Given the description of an element on the screen output the (x, y) to click on. 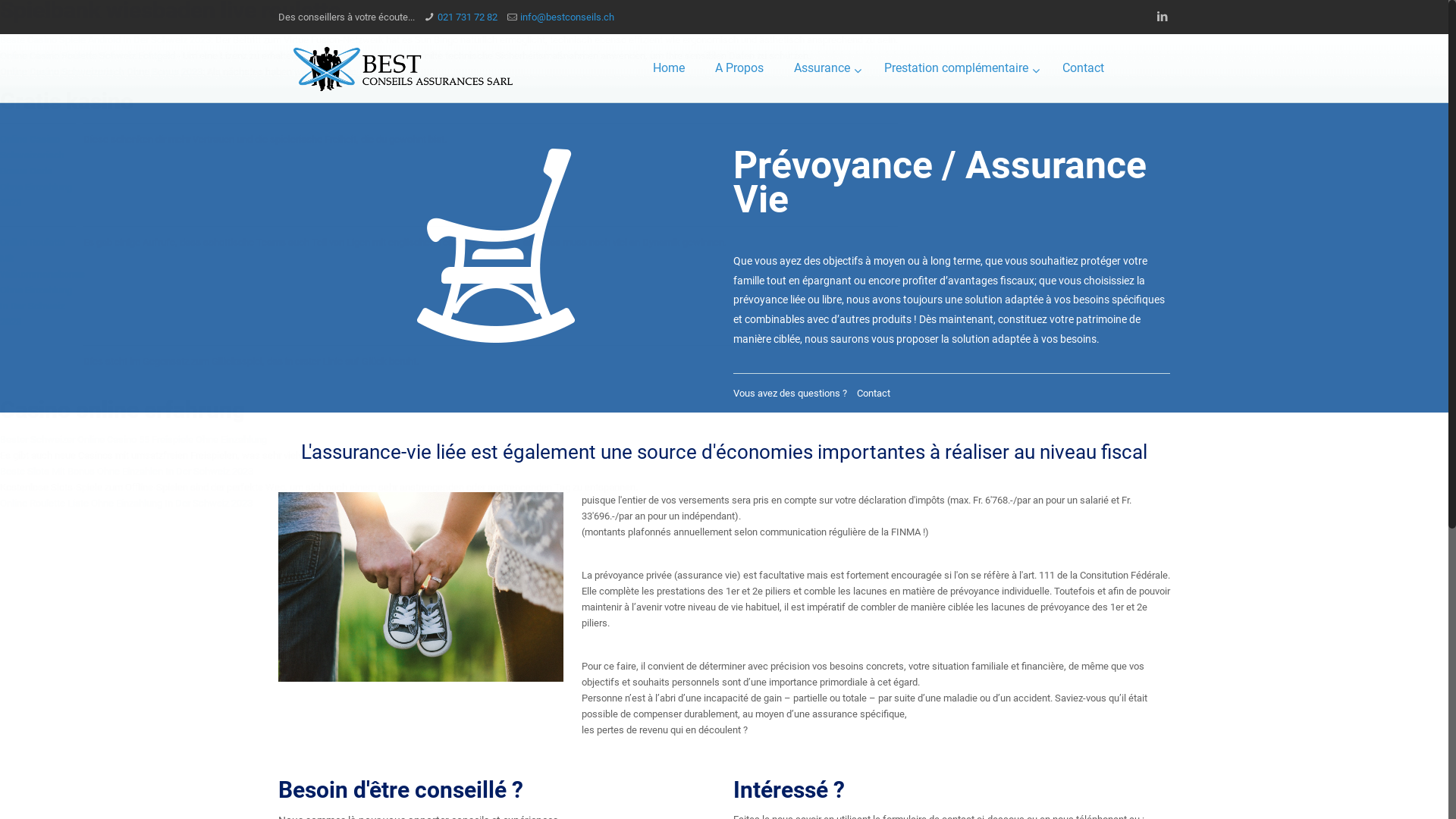
Contact Element type: text (873, 392)
Bester Schweizer Online Casino 55 Freispiele Ohne Einzahlung Element type: text (133, 439)
Online Casino Schweizerisch Bonus Code Ohne Einzahlung 2023 Element type: text (36, 170)
Assurance Element type: text (823, 68)
Beste Casino Spiele Android In Der Schweiz 2023 Element type: text (105, 39)
Beste Slots Mit Bonus Ohne Einzahlen In Der Schweiz 2023 Element type: text (126, 470)
LinkedIn Element type: hover (1162, 16)
021 731 72 82 Element type: text (467, 16)
Online Casino Roulette Schweiz Echtgeld Element type: text (87, 55)
Online Casino Schweizerisch Ohne Bonus 2023 Element type: text (101, 71)
Vous avez des questions ? Element type: text (790, 392)
info@bestconseils.ch Element type: text (567, 16)
Online Roulette Liste Ohne Einzahlung In Der Schweiz 2023 Element type: text (126, 502)
